Given the description of an element on the screen output the (x, y) to click on. 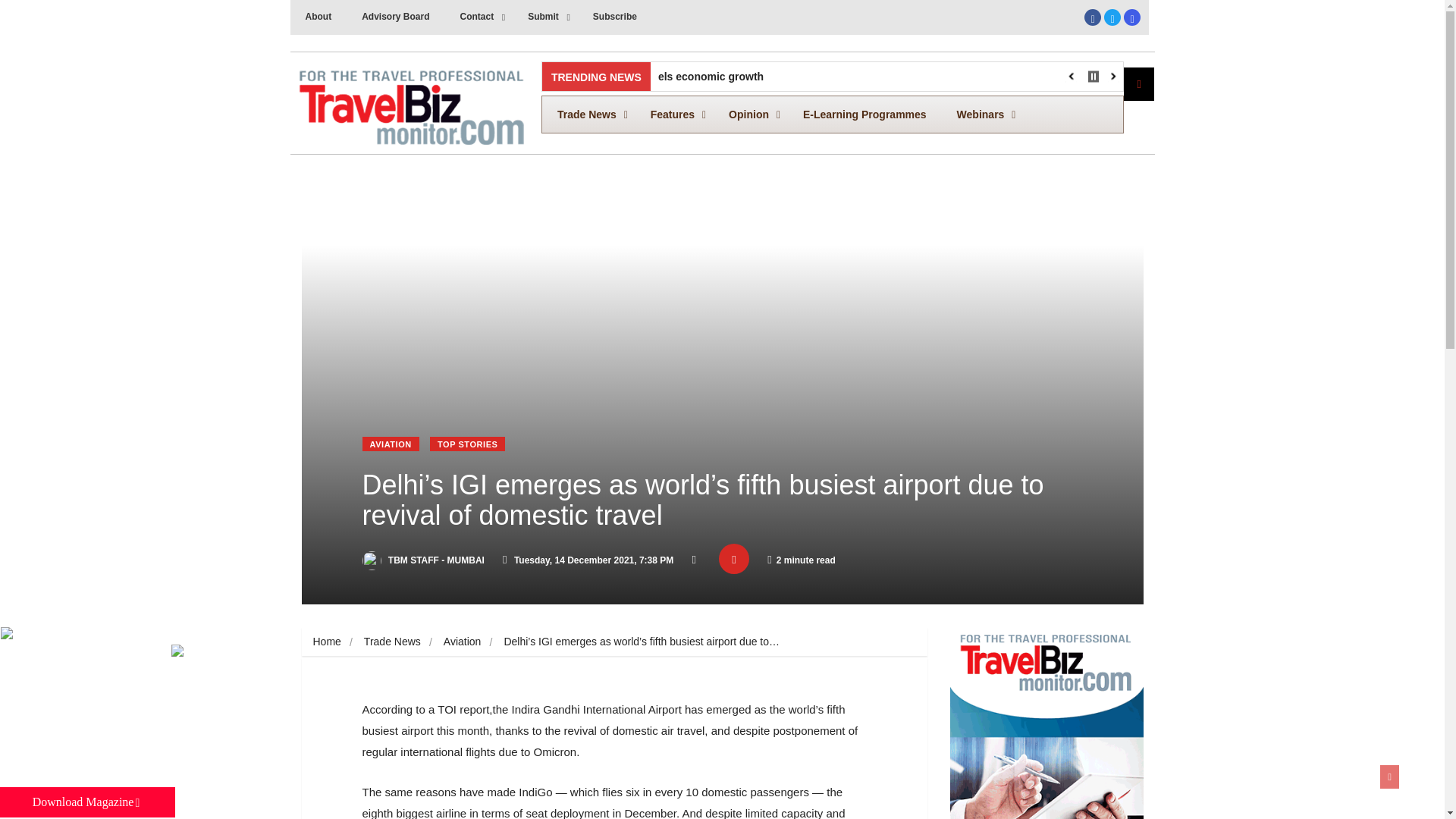
Trade News (832, 114)
Submit (587, 114)
Instagram (545, 17)
About (1132, 17)
Twitter (317, 17)
Subscribe (1112, 17)
Twitter (615, 17)
Contact (1112, 19)
Facebook (479, 17)
Facebook (1092, 19)
Advisory Board (1092, 17)
Features (395, 17)
